Given the description of an element on the screen output the (x, y) to click on. 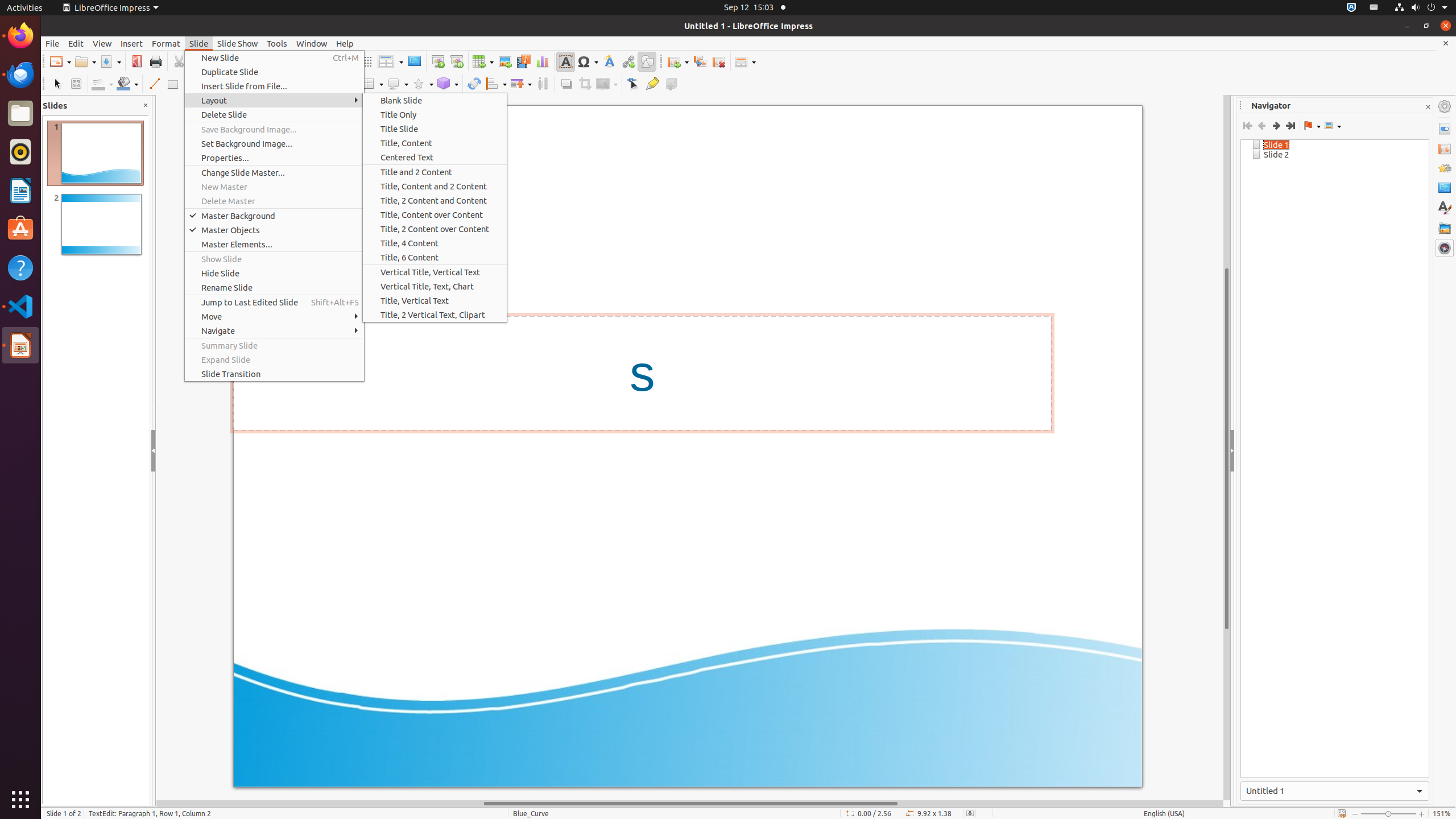
Title, 2 Content and Content Element type: menu-item (434, 200)
Title, Vertical Text Element type: menu-item (434, 300)
Next Slide Element type: push-button (1275, 125)
